Given the description of an element on the screen output the (x, y) to click on. 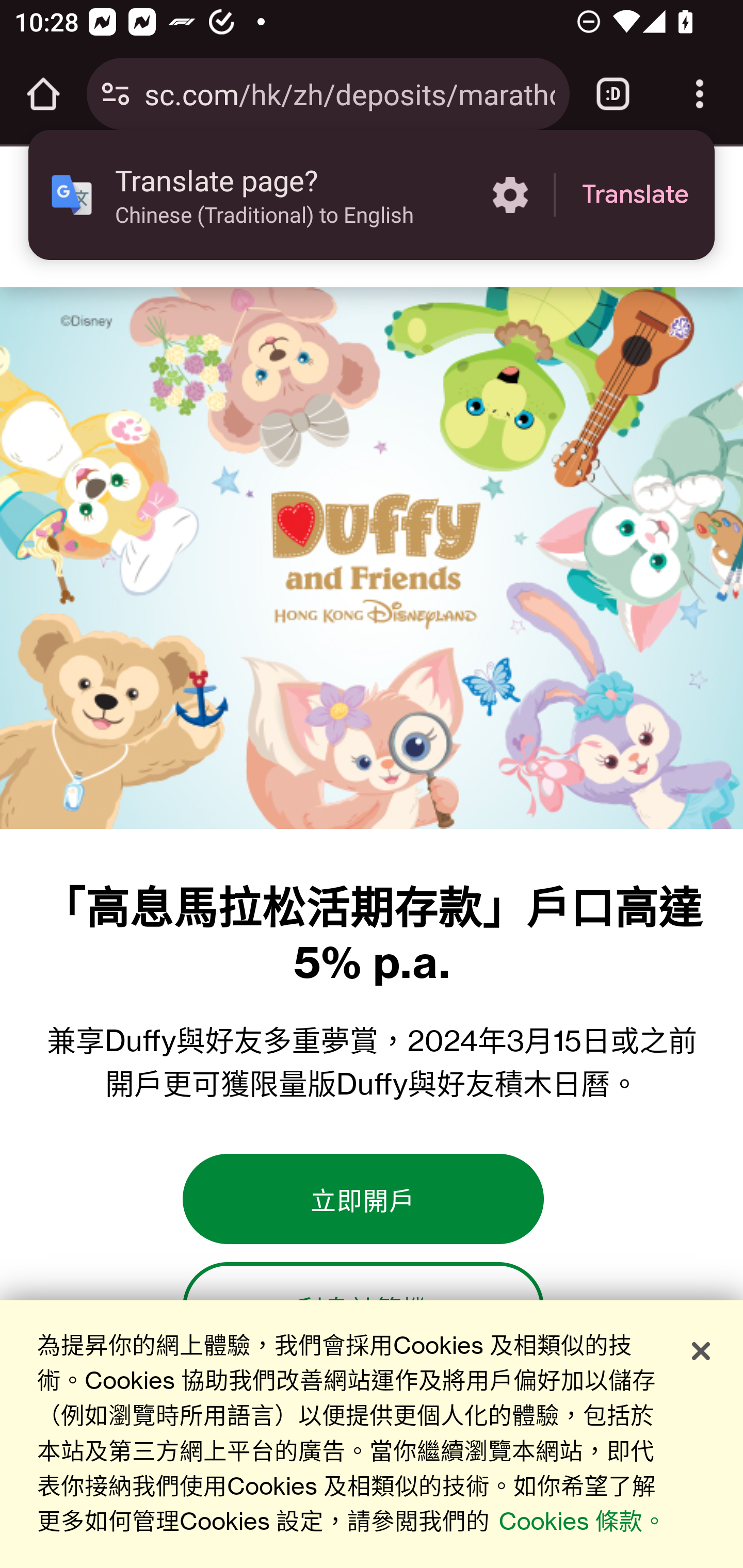
Open the home page (43, 93)
Connection is secure (115, 93)
Switch or close tabs (612, 93)
Customize and control Google Chrome (699, 93)
Translate (634, 195)
Standard Chartered (65, 216)
More options in the Translate page? (509, 195)
